Given the description of an element on the screen output the (x, y) to click on. 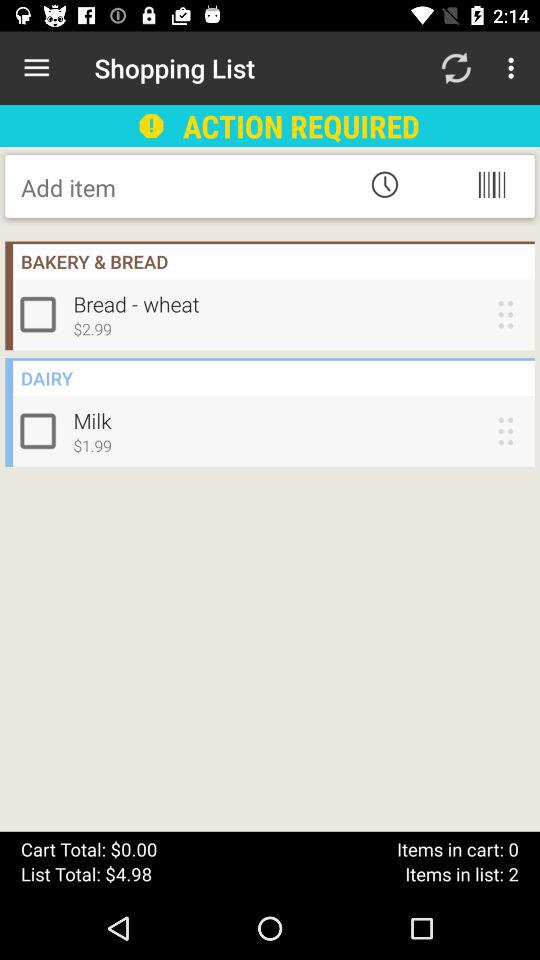
add reminder (384, 184)
